Given the description of an element on the screen output the (x, y) to click on. 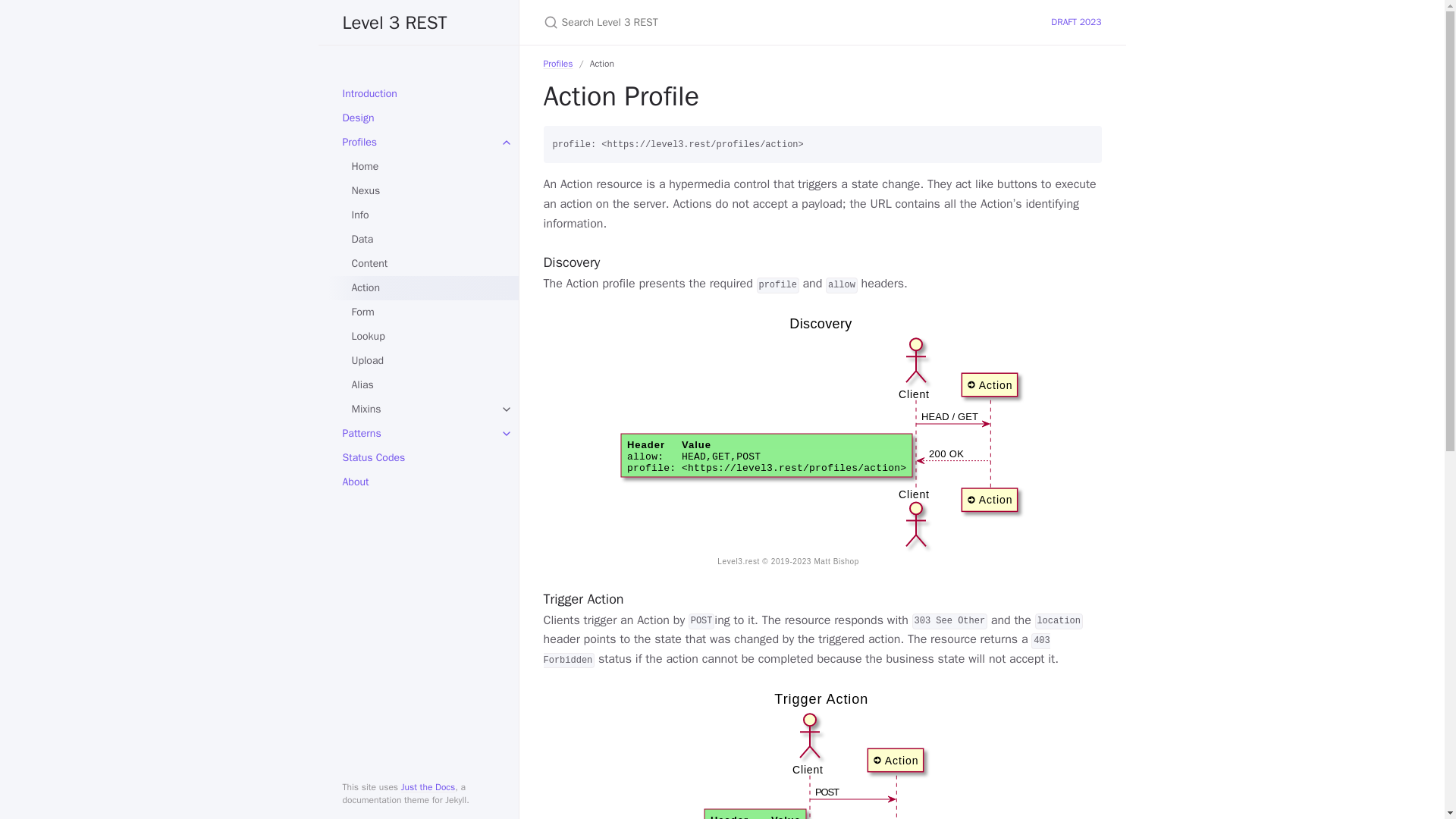
Mixins (422, 409)
Upload (422, 360)
Introduction (418, 93)
Content (422, 263)
Design (418, 118)
Lookup (422, 336)
Nexus (422, 191)
Alias (422, 385)
Action (422, 288)
Profiles (418, 142)
